Given the description of an element on the screen output the (x, y) to click on. 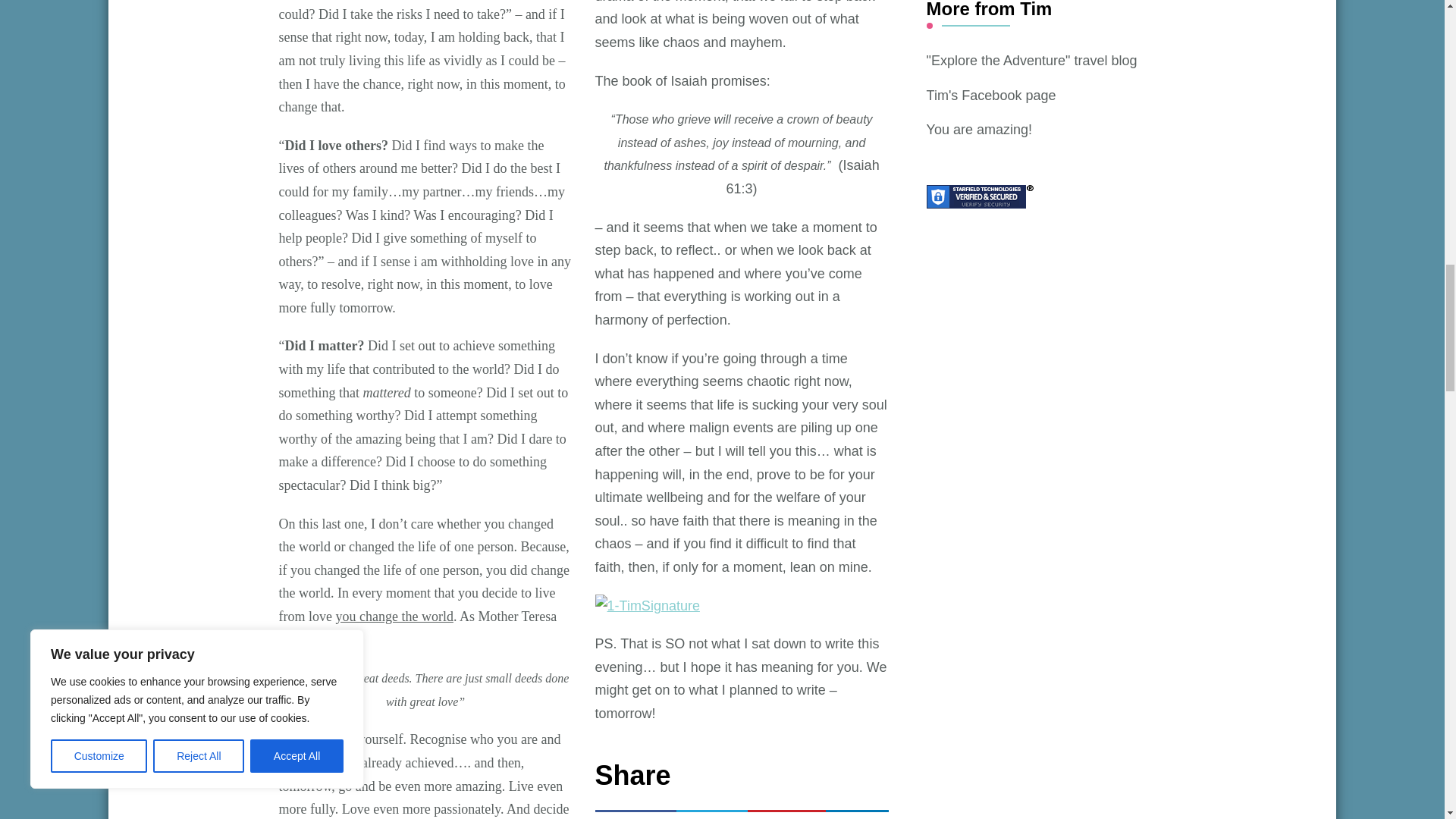
Regular thoughts, reminders and inspiration (979, 129)
1-TimSignature (647, 606)
